Given the description of an element on the screen output the (x, y) to click on. 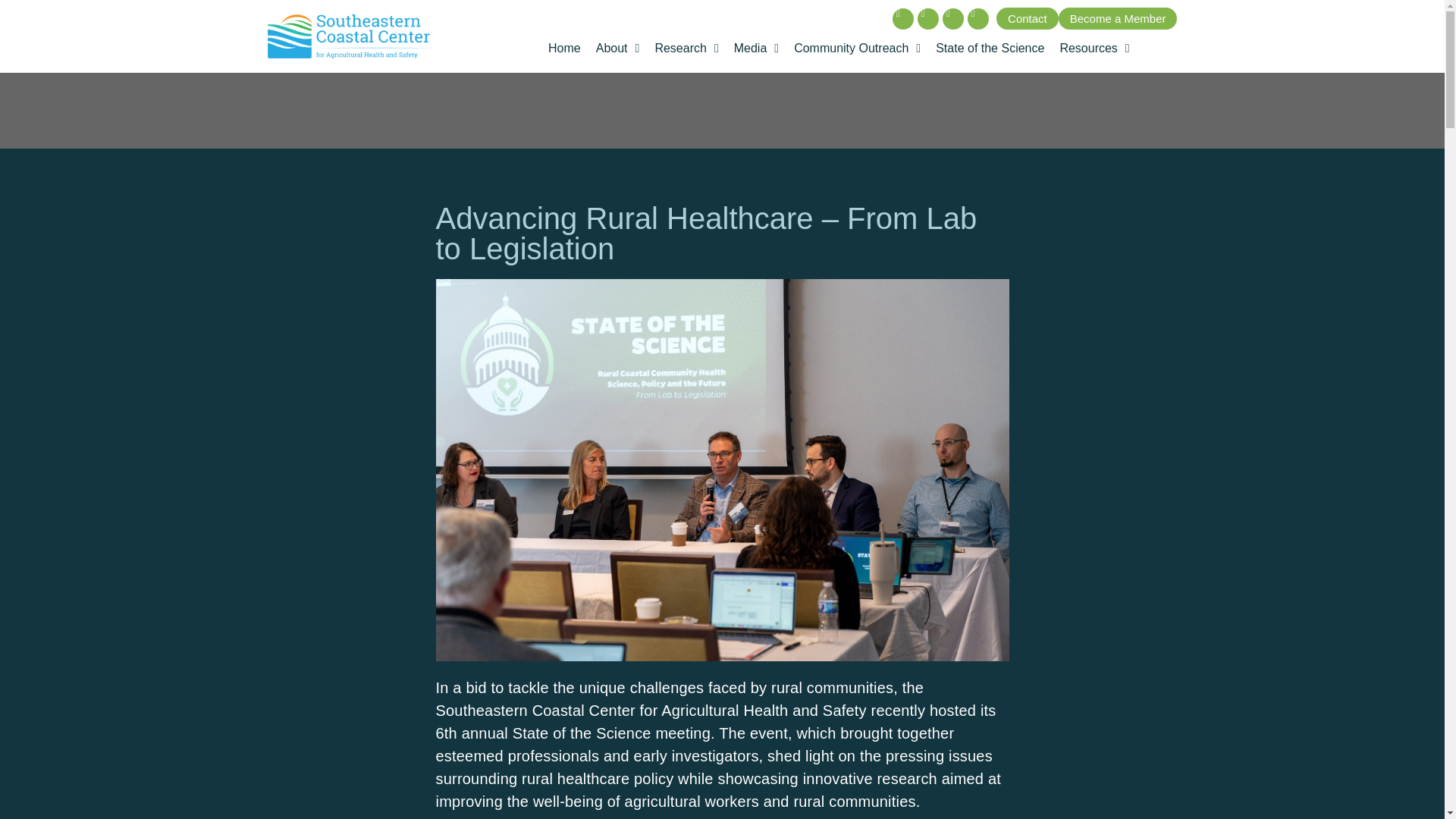
Home (564, 48)
Become a Member (1117, 18)
Contact (1026, 18)
About (617, 48)
